Given the description of an element on the screen output the (x, y) to click on. 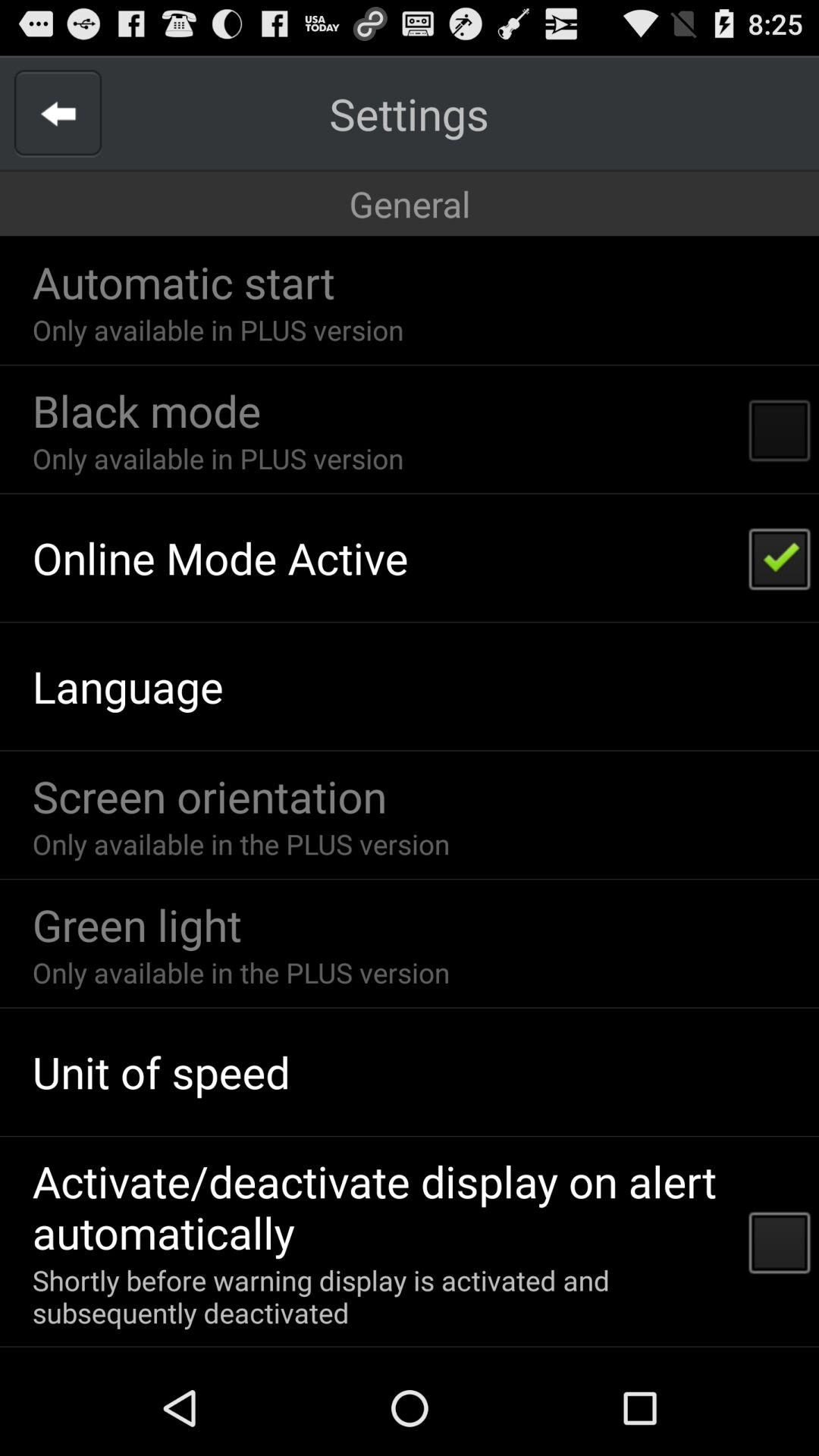
choose the unit of speed (161, 1071)
